Given the description of an element on the screen output the (x, y) to click on. 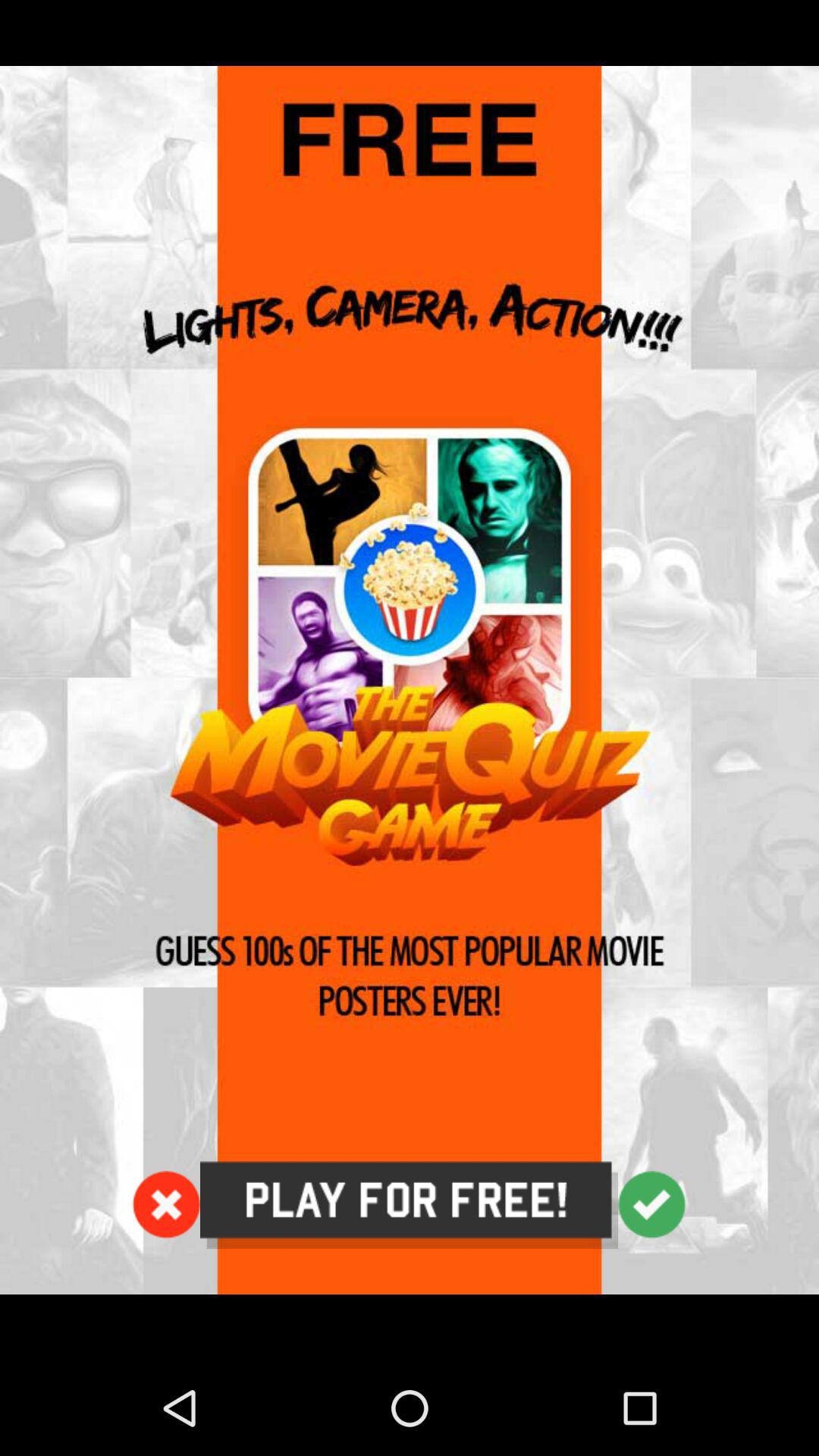
intrusive advertisement (409, 679)
